Given the description of an element on the screen output the (x, y) to click on. 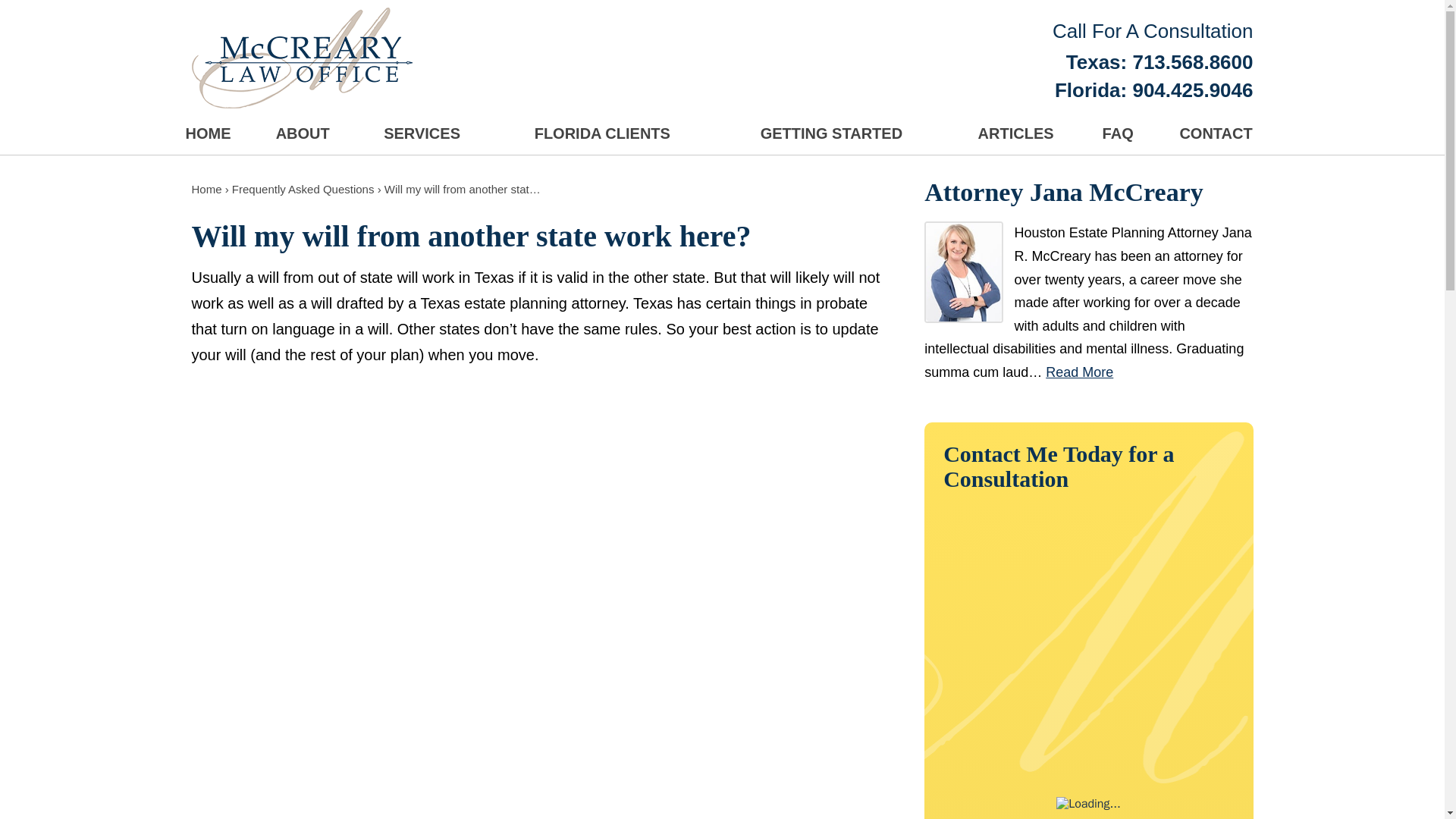
HOME (212, 134)
FLORIDA CLIENTS (601, 134)
SERVICES (421, 134)
713.568.8600 (1192, 61)
GETTING STARTED (830, 134)
View Jana R. McCreary's Attorney Profile (1079, 372)
ABOUT (302, 134)
ARTICLES (1015, 134)
904.425.9046 (1192, 89)
